Given the description of an element on the screen output the (x, y) to click on. 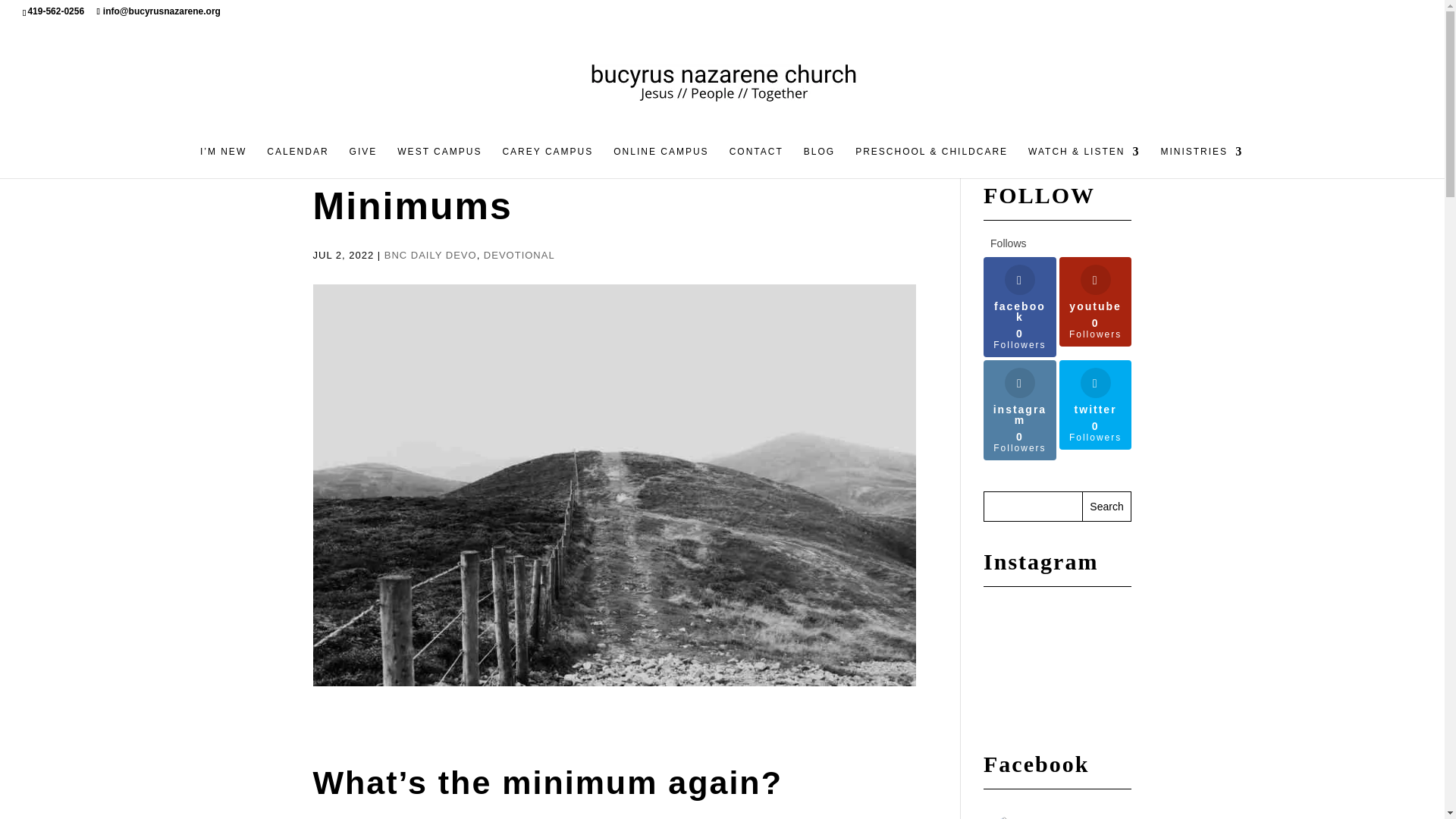
ONLINE CAMPUS (659, 162)
BLOG (818, 162)
CONTACT (756, 162)
Search (1106, 506)
CALENDAR (297, 162)
WEST CAMPUS (439, 162)
BNC DAILY DEVO (430, 255)
CAREY CAMPUS (547, 162)
Search (1106, 506)
